Given the description of an element on the screen output the (x, y) to click on. 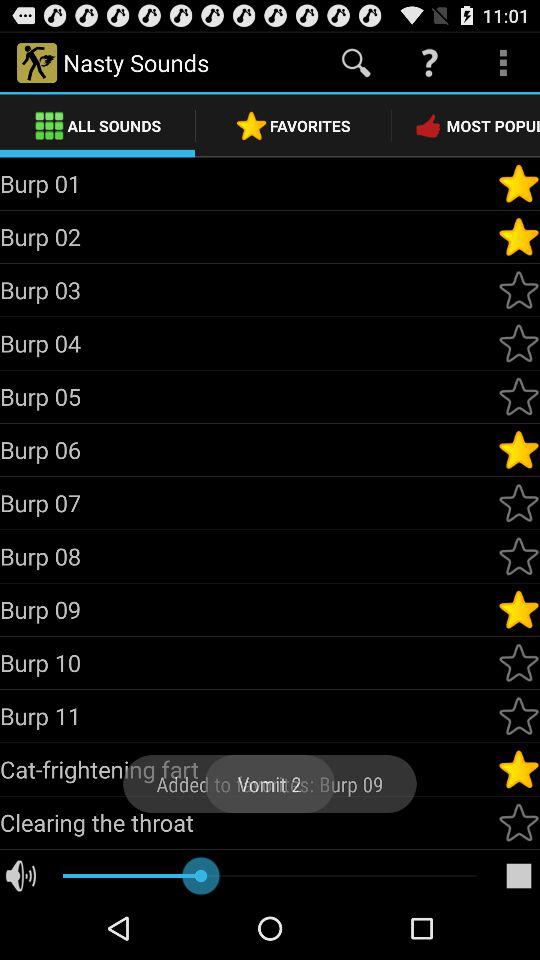
add favorite (519, 822)
